Given the description of an element on the screen output the (x, y) to click on. 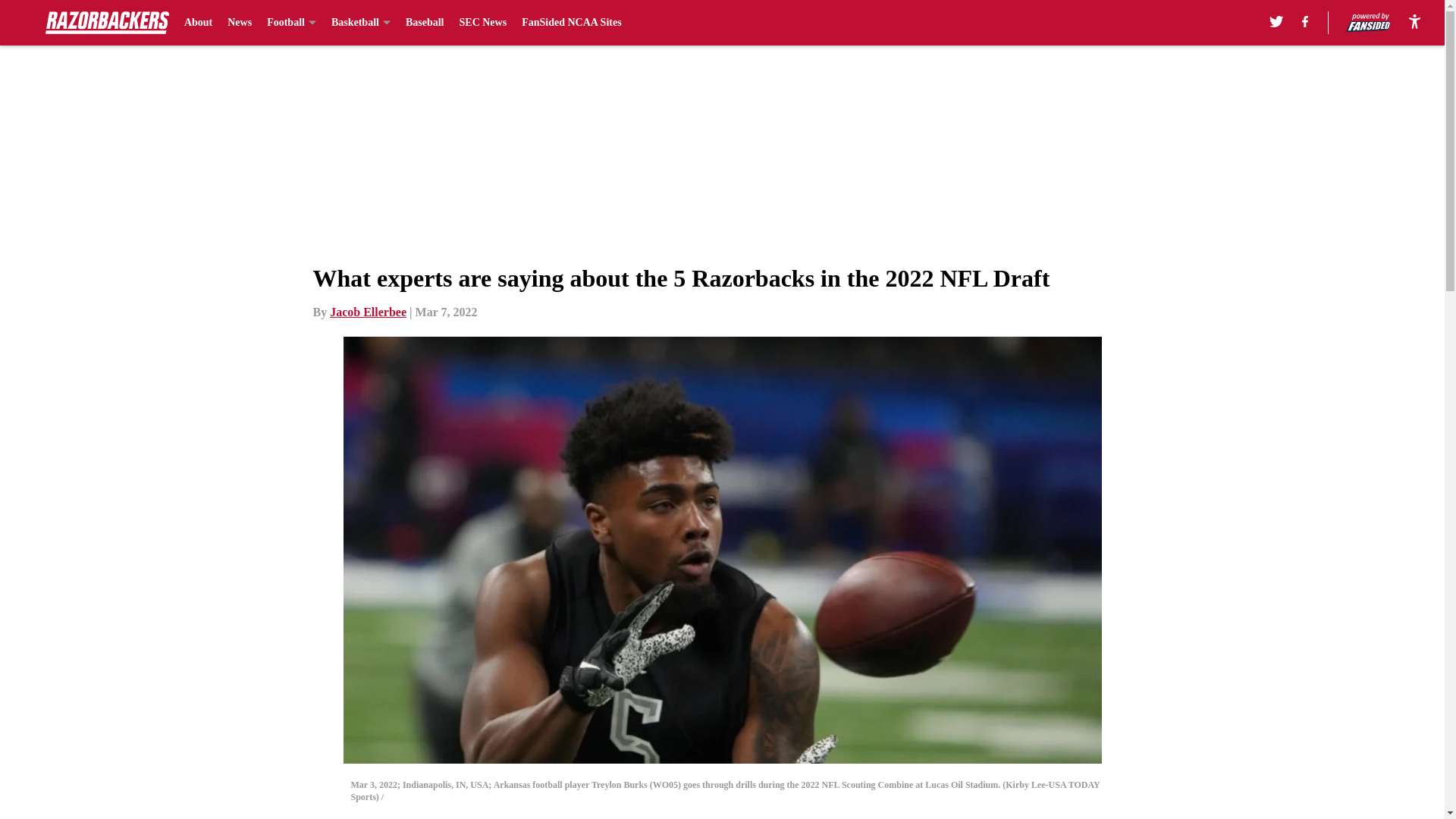
Baseball (425, 22)
About (198, 22)
FanSided NCAA Sites (571, 22)
SEC News (483, 22)
News (239, 22)
Jacob Ellerbee (368, 311)
